Given the description of an element on the screen output the (x, y) to click on. 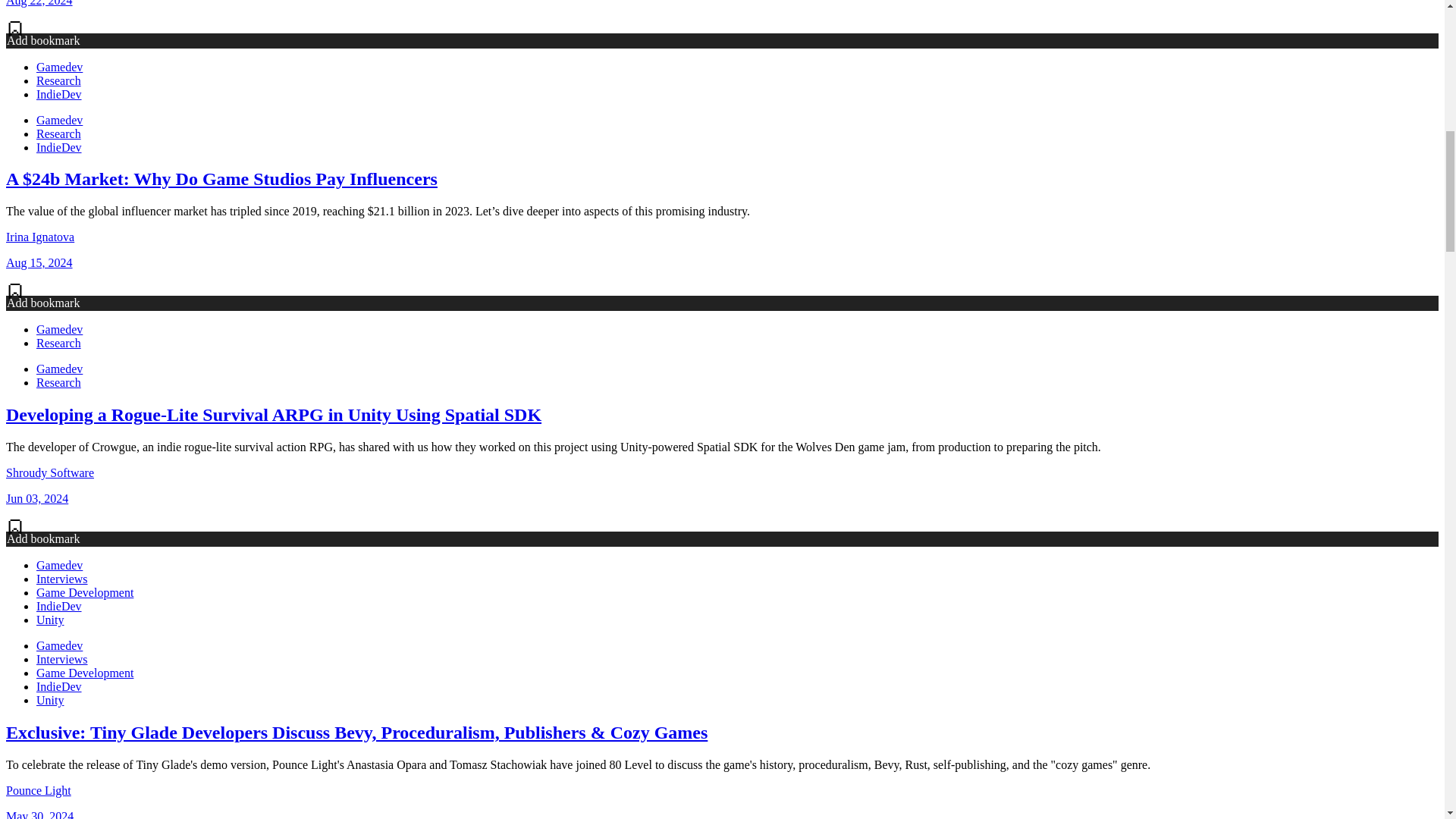
Research (58, 80)
Interviews (61, 658)
Gamedev (59, 368)
IndieDev (58, 686)
Gamedev (59, 328)
Research (58, 382)
Gamedev (59, 645)
Research (58, 342)
Game Development (84, 672)
IndieDev (58, 146)
